Given the description of an element on the screen output the (x, y) to click on. 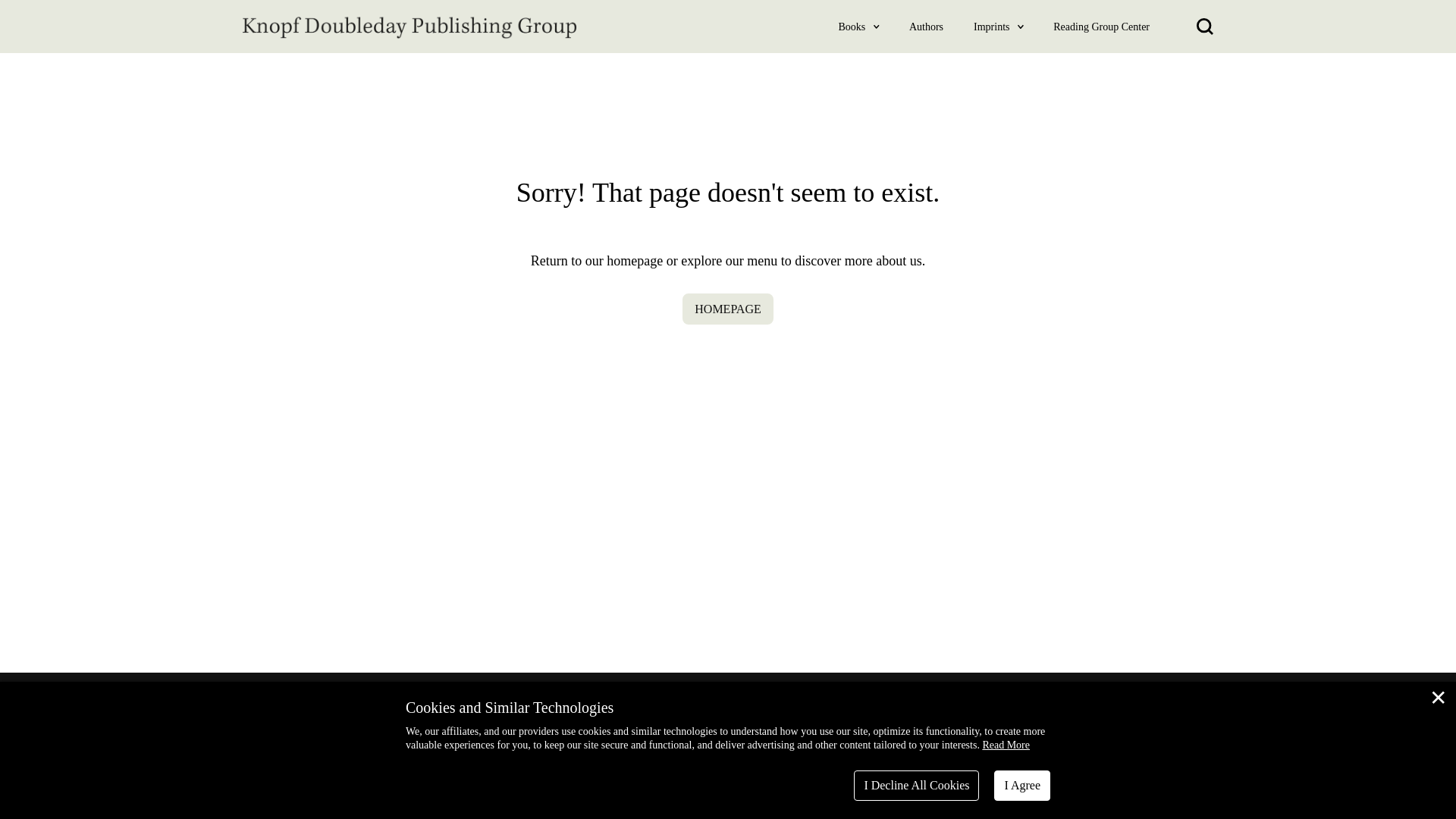
Authors (925, 26)
HOMEPAGE (727, 308)
Books (852, 26)
Imprints (992, 26)
Reading Group Center (1101, 26)
